Given the description of an element on the screen output the (x, y) to click on. 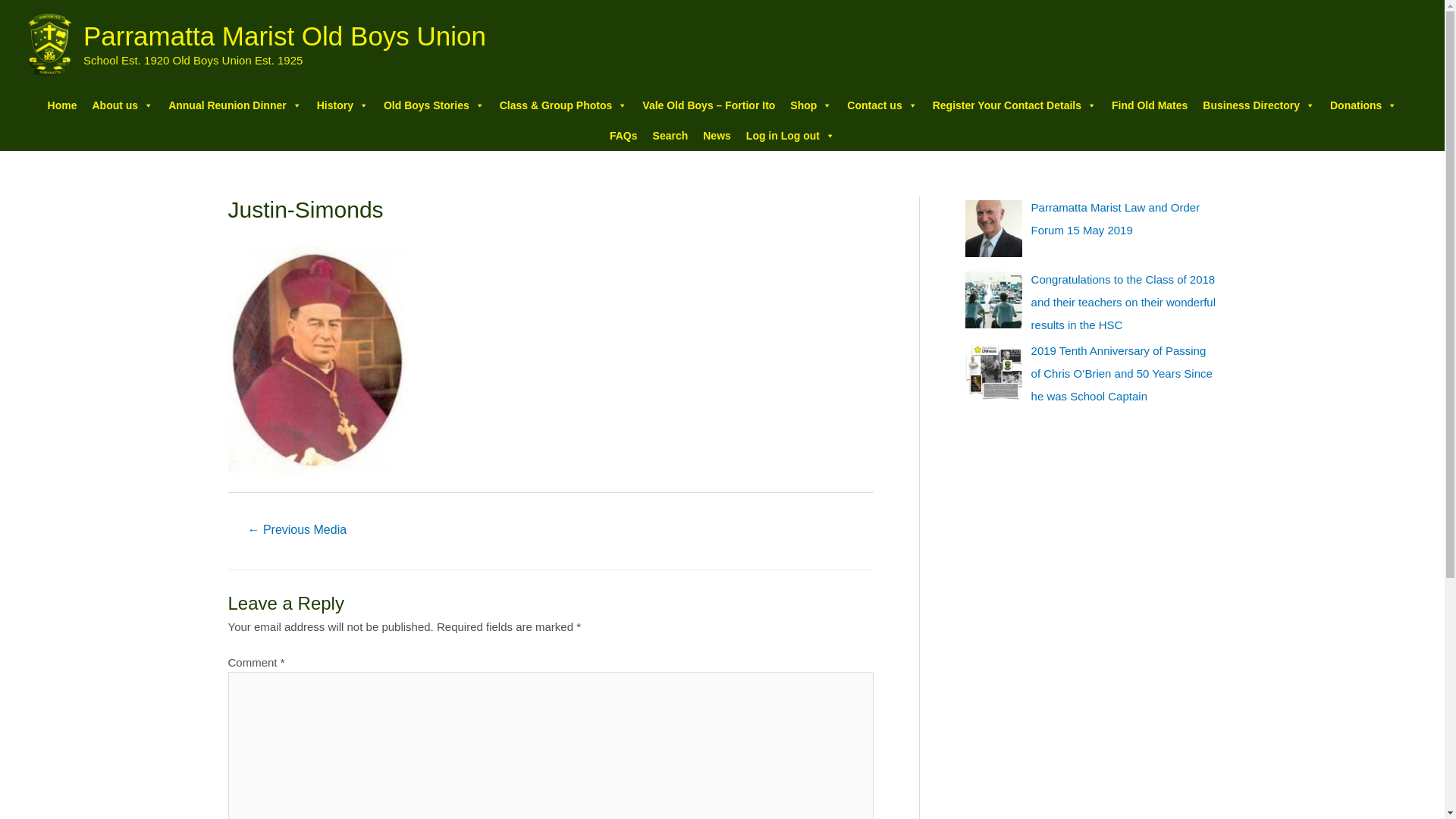
Old Boys Stories Element type: text (434, 105)
Class & Group Photos Element type: text (563, 105)
Search Element type: text (670, 135)
Log in Log out Element type: text (790, 135)
Parramatta Marist Old Boys Union Element type: text (284, 35)
Parramatta Marist Law and Order Forum 15 May 2019 Element type: text (1115, 218)
FAQs Element type: text (623, 135)
History Element type: text (342, 105)
Annual Reunion Dinner Element type: text (234, 105)
Business Directory Element type: text (1258, 105)
Register Your Contact Details Element type: text (1014, 105)
News Element type: text (716, 135)
About us Element type: text (122, 105)
Shop Element type: text (810, 105)
Find Old Mates Element type: text (1149, 105)
Home Element type: text (62, 105)
Donations Element type: text (1363, 105)
Contact us Element type: text (881, 105)
